Given the description of an element on the screen output the (x, y) to click on. 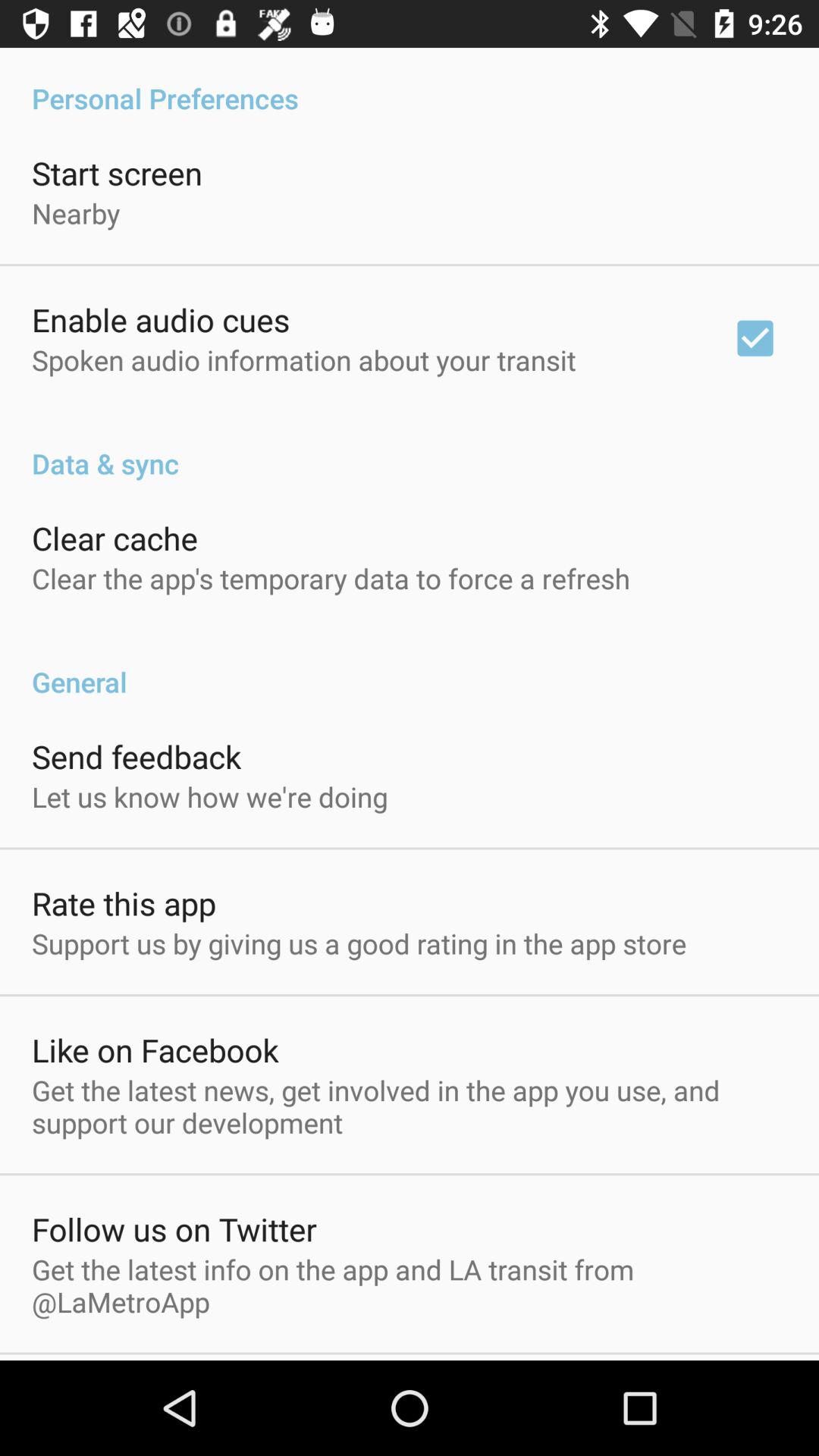
turn on item to the right of spoken audio information item (755, 338)
